Given the description of an element on the screen output the (x, y) to click on. 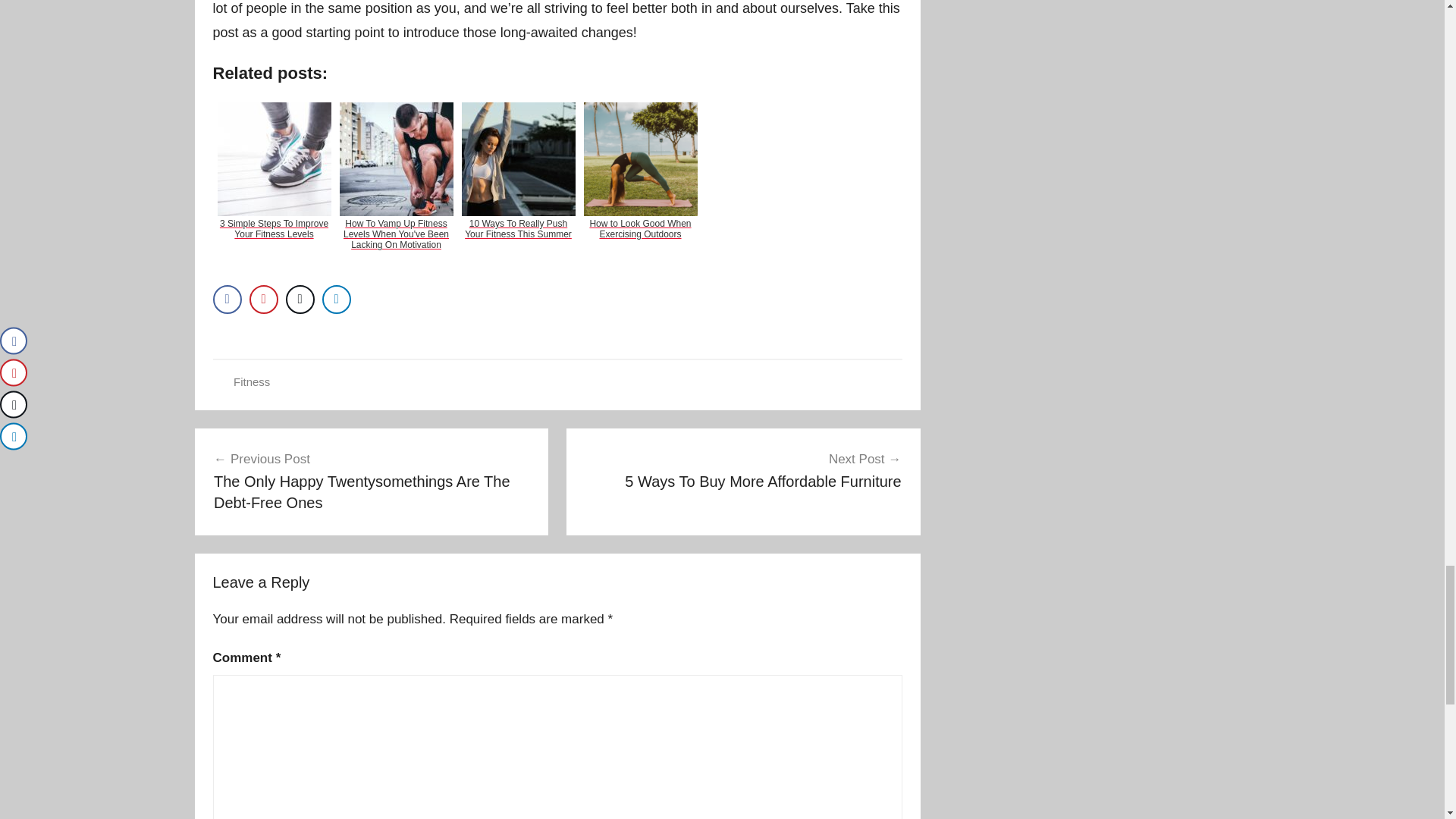
Fitness (743, 469)
